Given the description of an element on the screen output the (x, y) to click on. 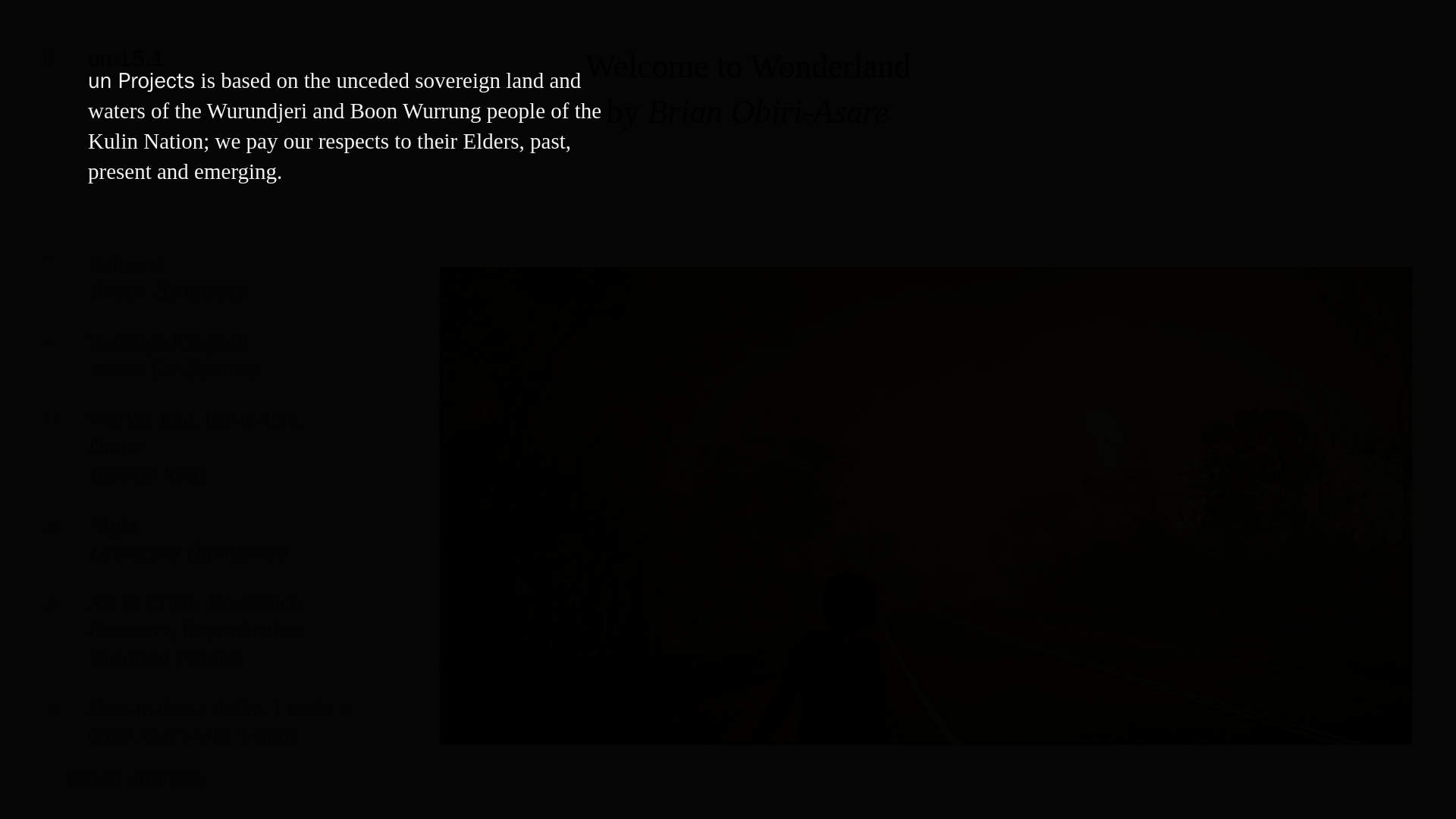
Brian Obiri-Asare (197, 549)
Posts by Brian Obiri-Asare (768, 111)
